Given the description of an element on the screen output the (x, y) to click on. 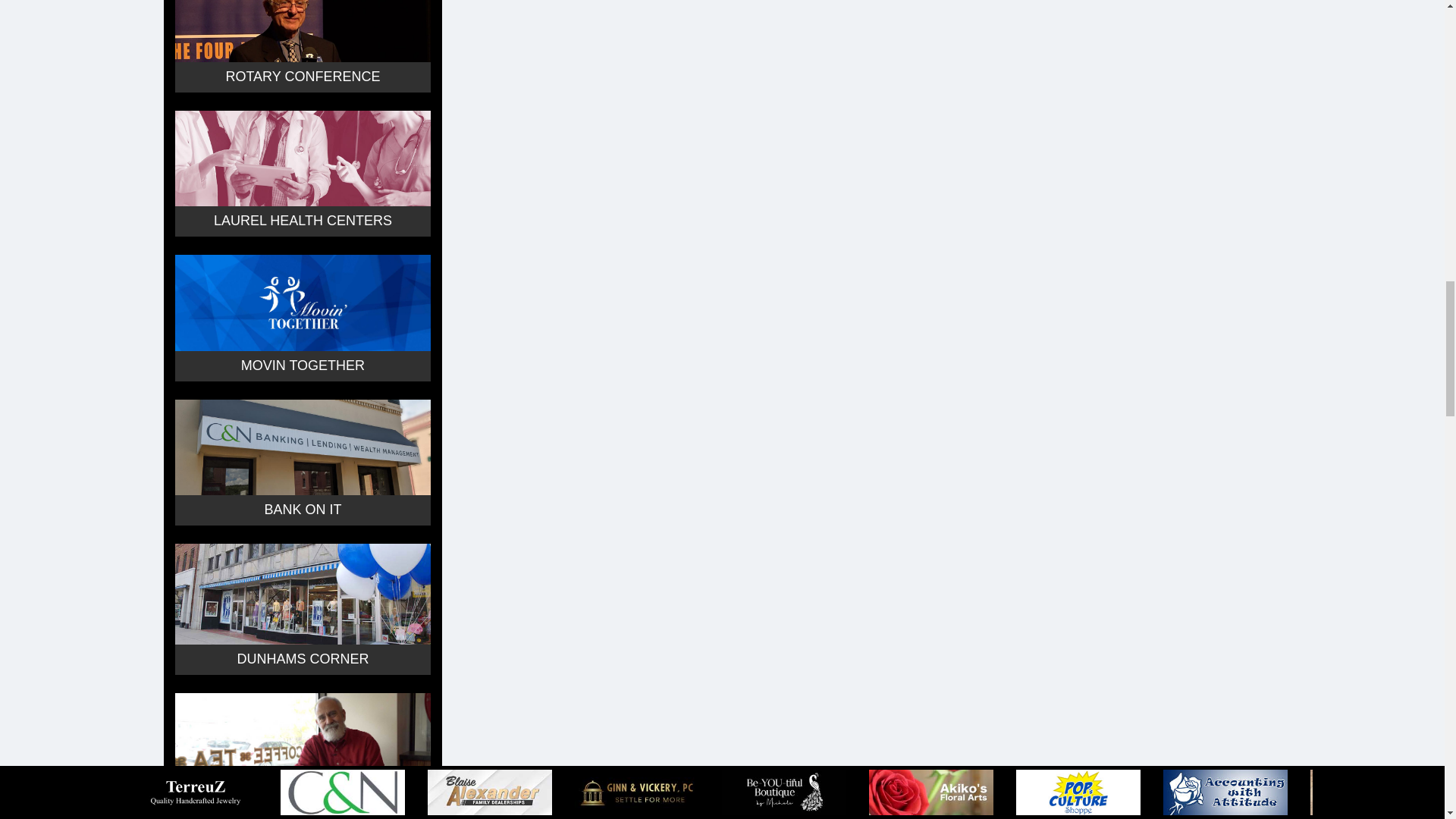
Dunhams Corner (301, 593)
Laurel Health Centers (301, 158)
Movin Together (301, 302)
Rotary Conference (301, 30)
Bank On It (301, 447)
